Given the description of an element on the screen output the (x, y) to click on. 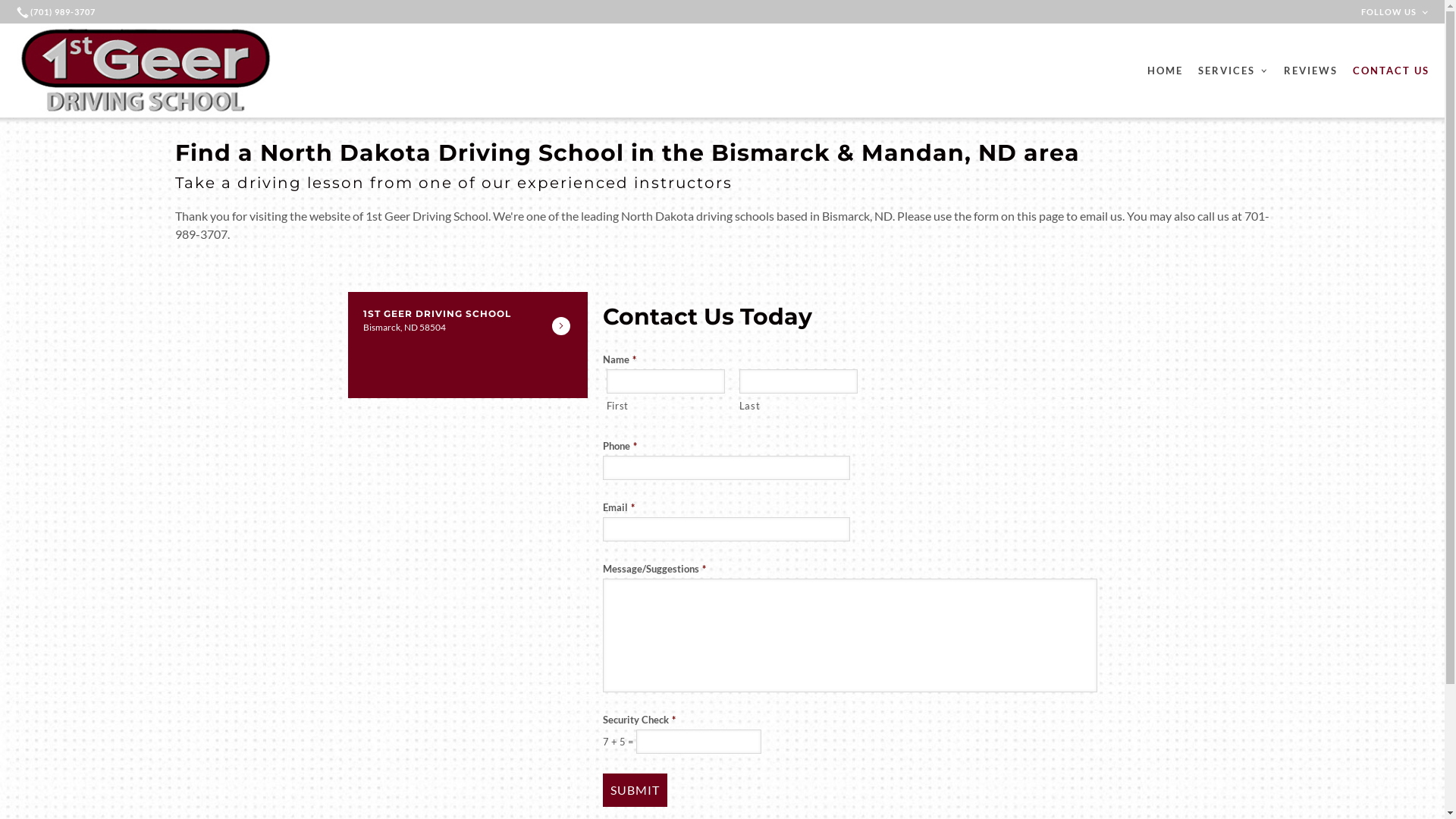
CONTACT US Element type: text (1390, 70)
See Details Element type: hover (561, 325)
REVIEWS Element type: text (1310, 70)
HOME Element type: text (1165, 70)
(701) 989-3707 Element type: hover (57, 11)
